Given the description of an element on the screen output the (x, y) to click on. 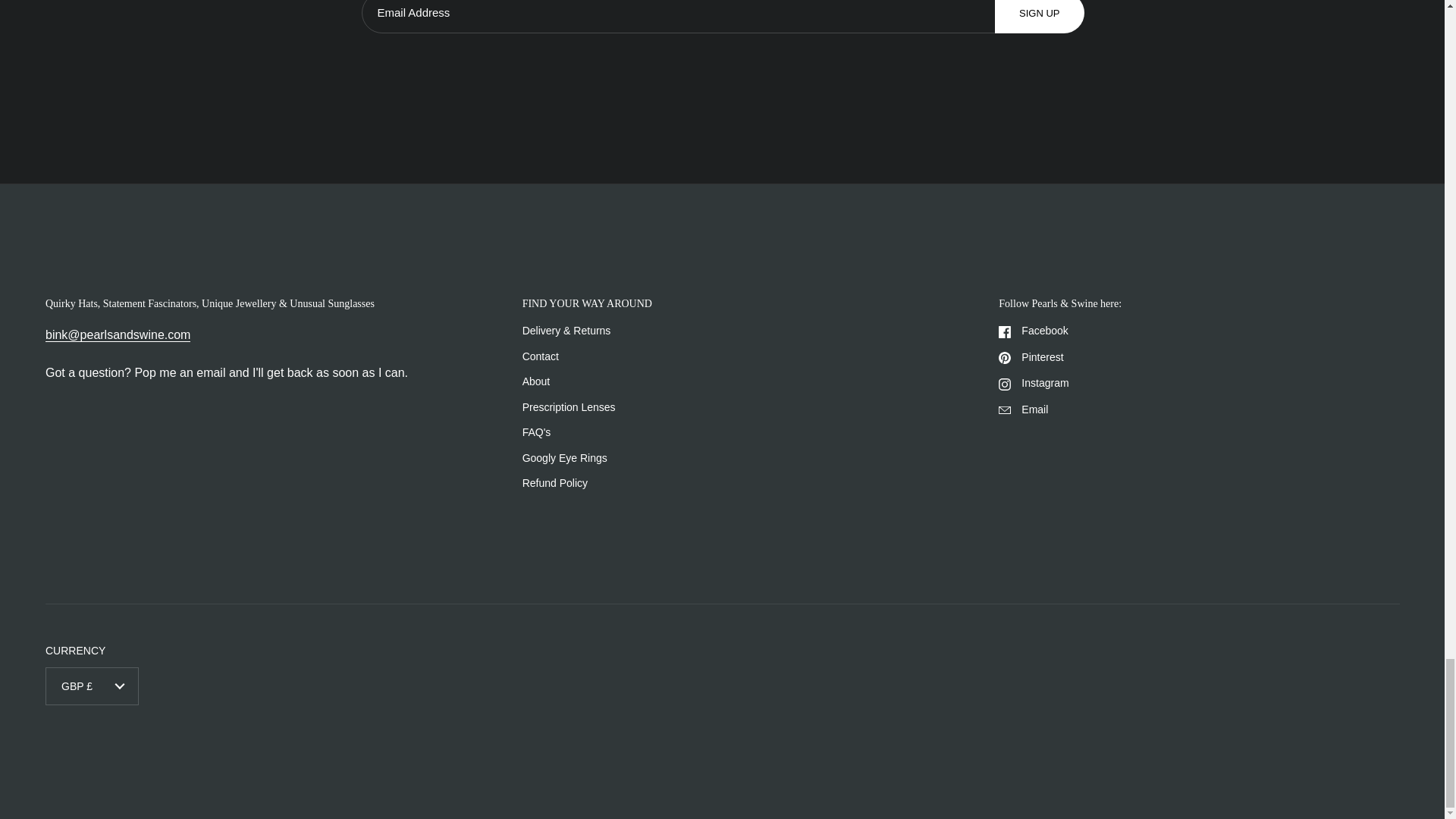
Contact (117, 335)
SIGN UP (1039, 12)
